Given the description of an element on the screen output the (x, y) to click on. 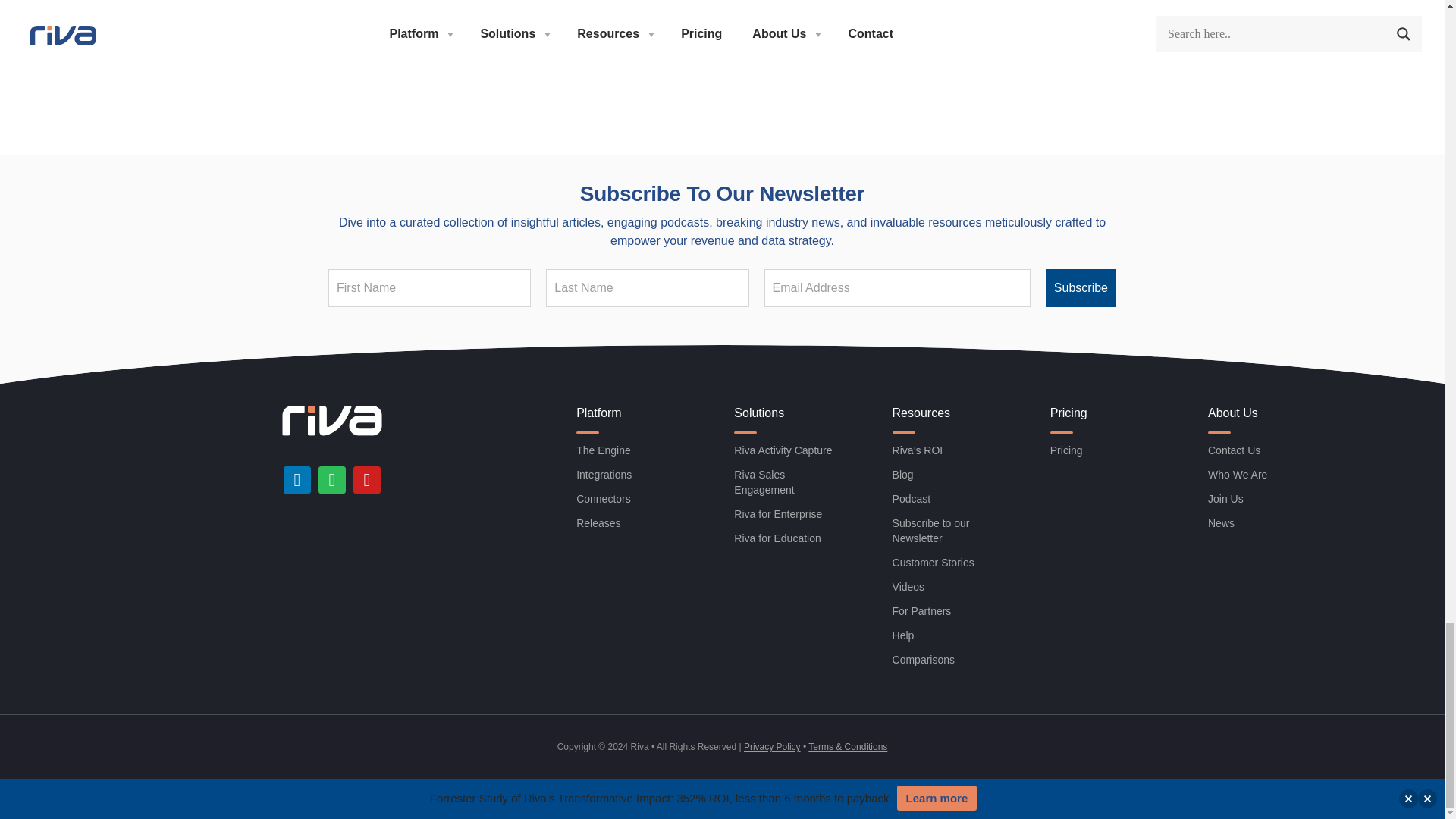
Spotify (332, 479)
Get in Touch (698, 35)
Get in Touch (698, 35)
YouTube (366, 479)
Subscribe (1080, 288)
LinkedIn (297, 479)
Subscribe (1080, 288)
